Given the description of an element on the screen output the (x, y) to click on. 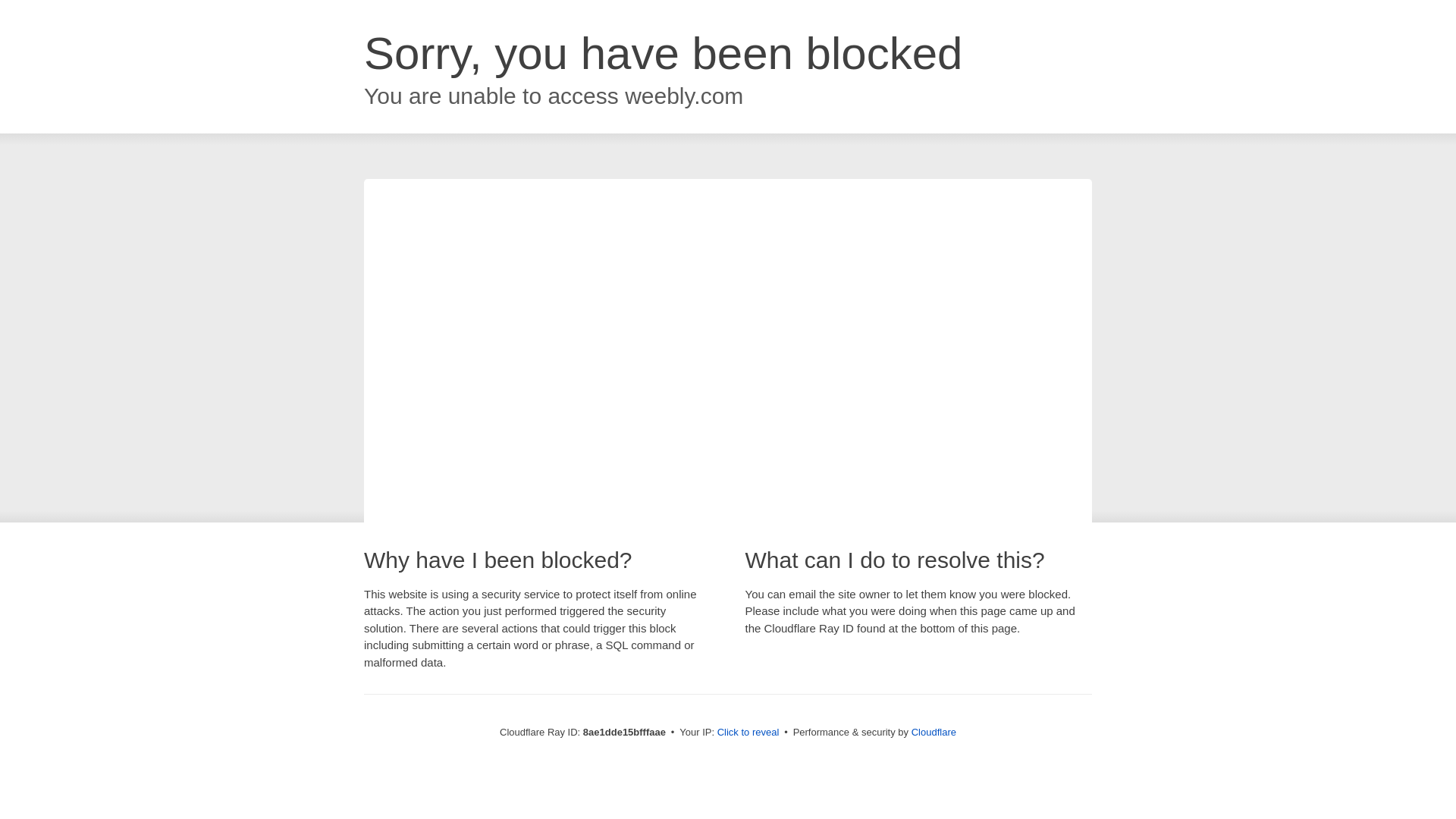
Cloudflare (933, 731)
Click to reveal (747, 732)
